Given the description of an element on the screen output the (x, y) to click on. 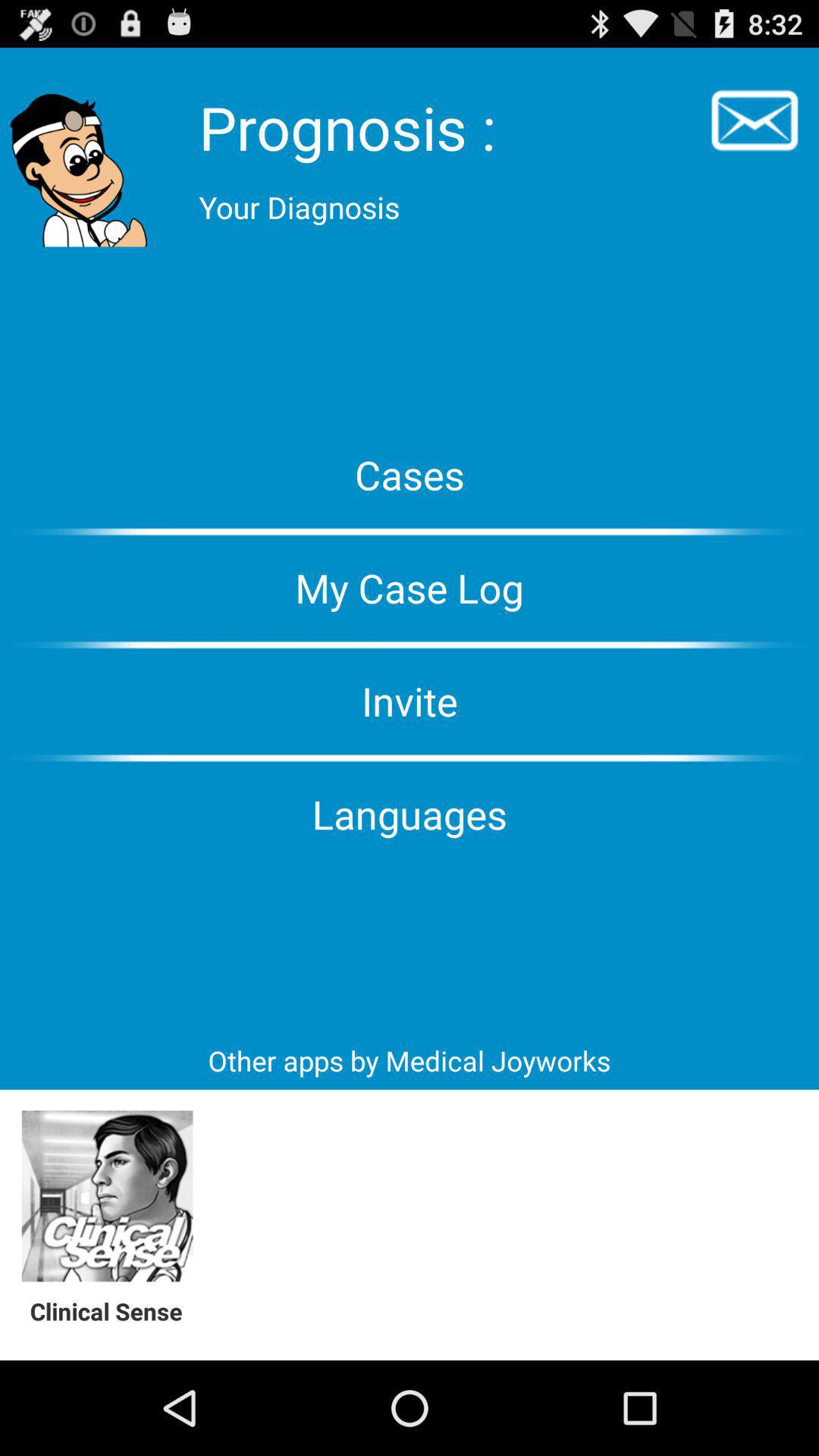
press languages item (409, 813)
